Given the description of an element on the screen output the (x, y) to click on. 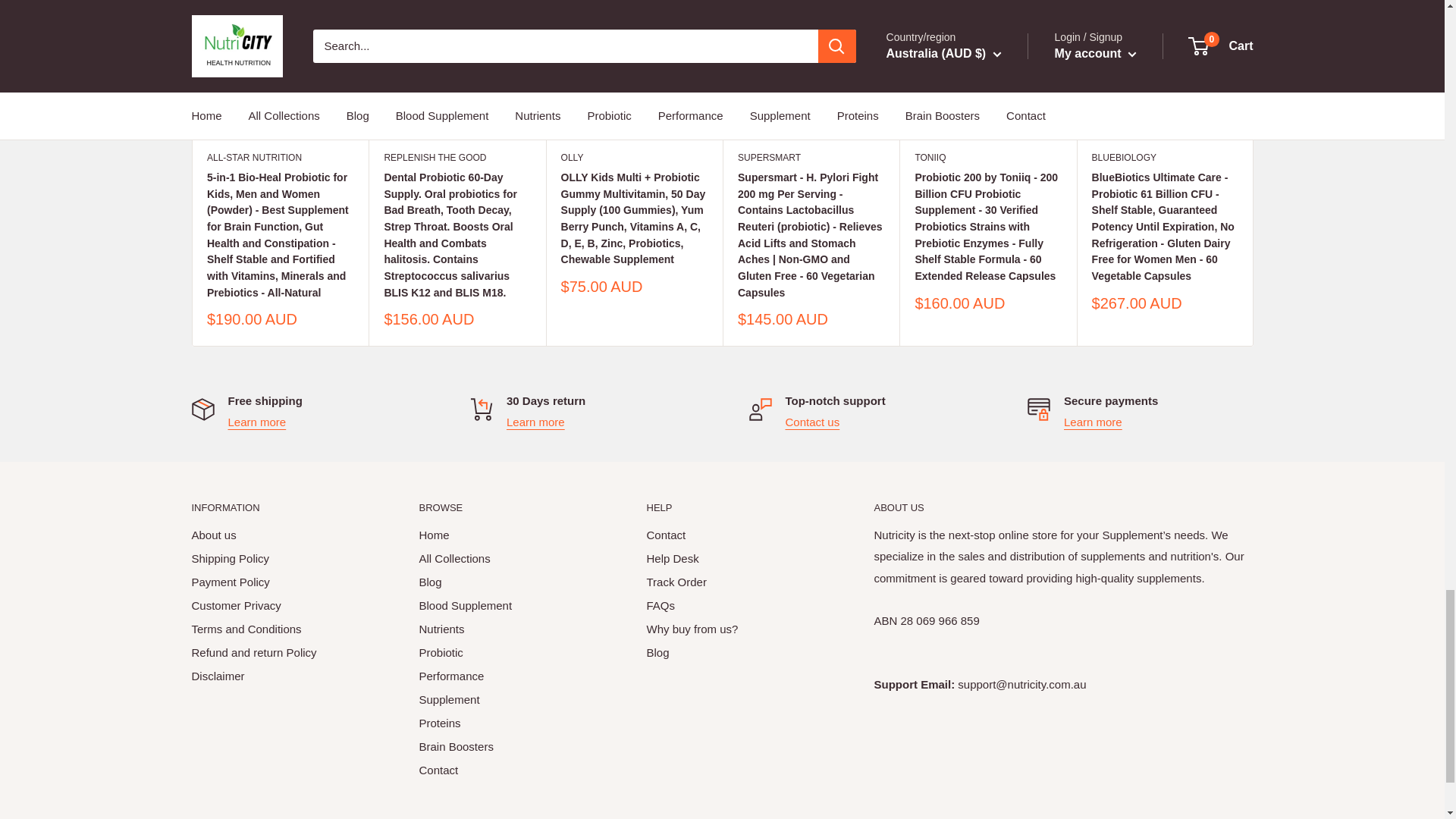
Shipping Policy (256, 421)
Contact (813, 421)
Payment (1093, 421)
Refund Policy (535, 421)
